Given the description of an element on the screen output the (x, y) to click on. 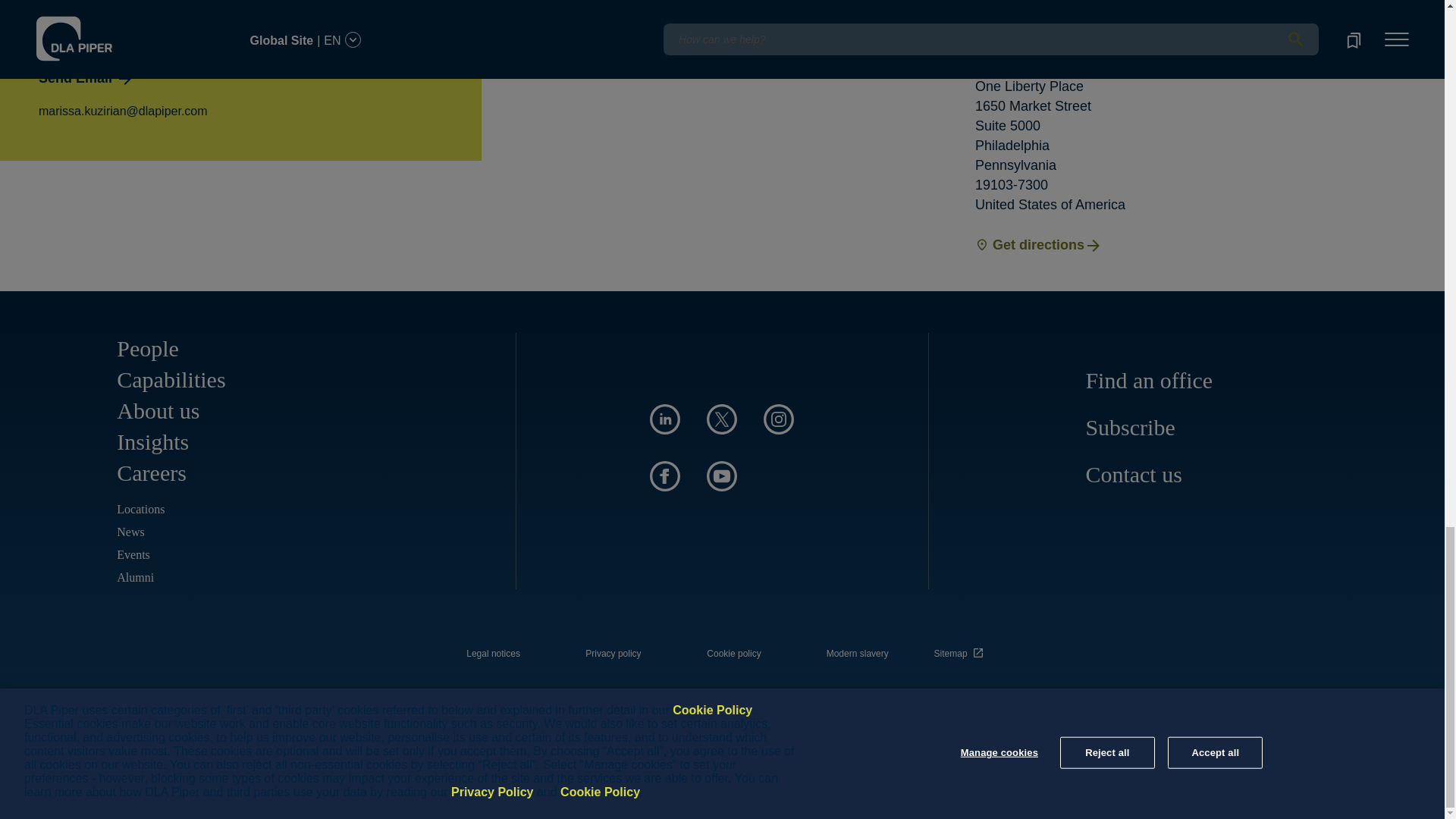
internal (493, 653)
external (960, 649)
internal (612, 653)
internal (857, 653)
internal (734, 653)
